Given the description of an element on the screen output the (x, y) to click on. 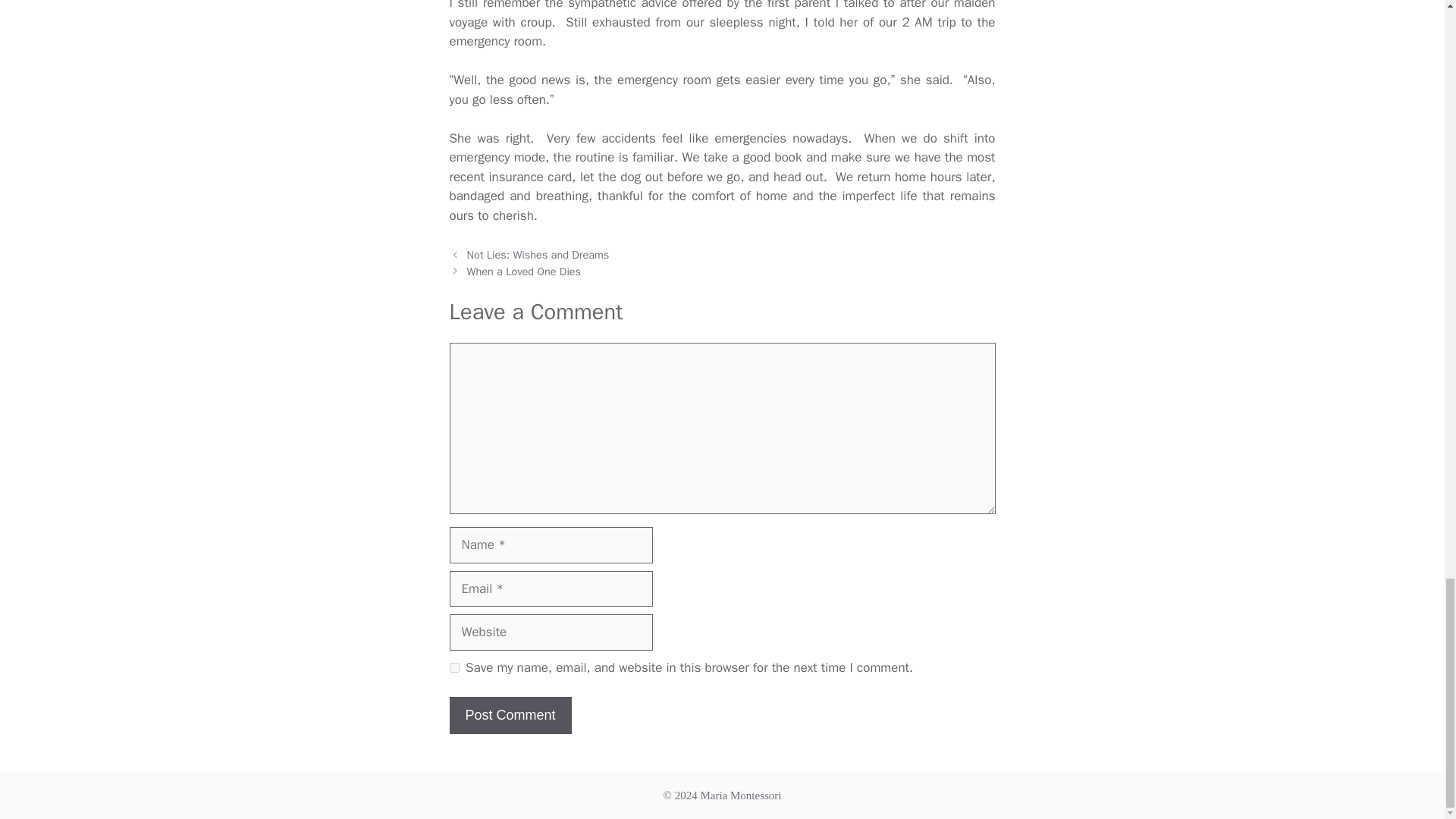
Previous (538, 254)
When a Loved One Dies (523, 271)
yes (453, 667)
Post Comment (509, 714)
Not Lies: Wishes and Dreams (538, 254)
Next (523, 271)
Post Comment (509, 714)
